Given the description of an element on the screen output the (x, y) to click on. 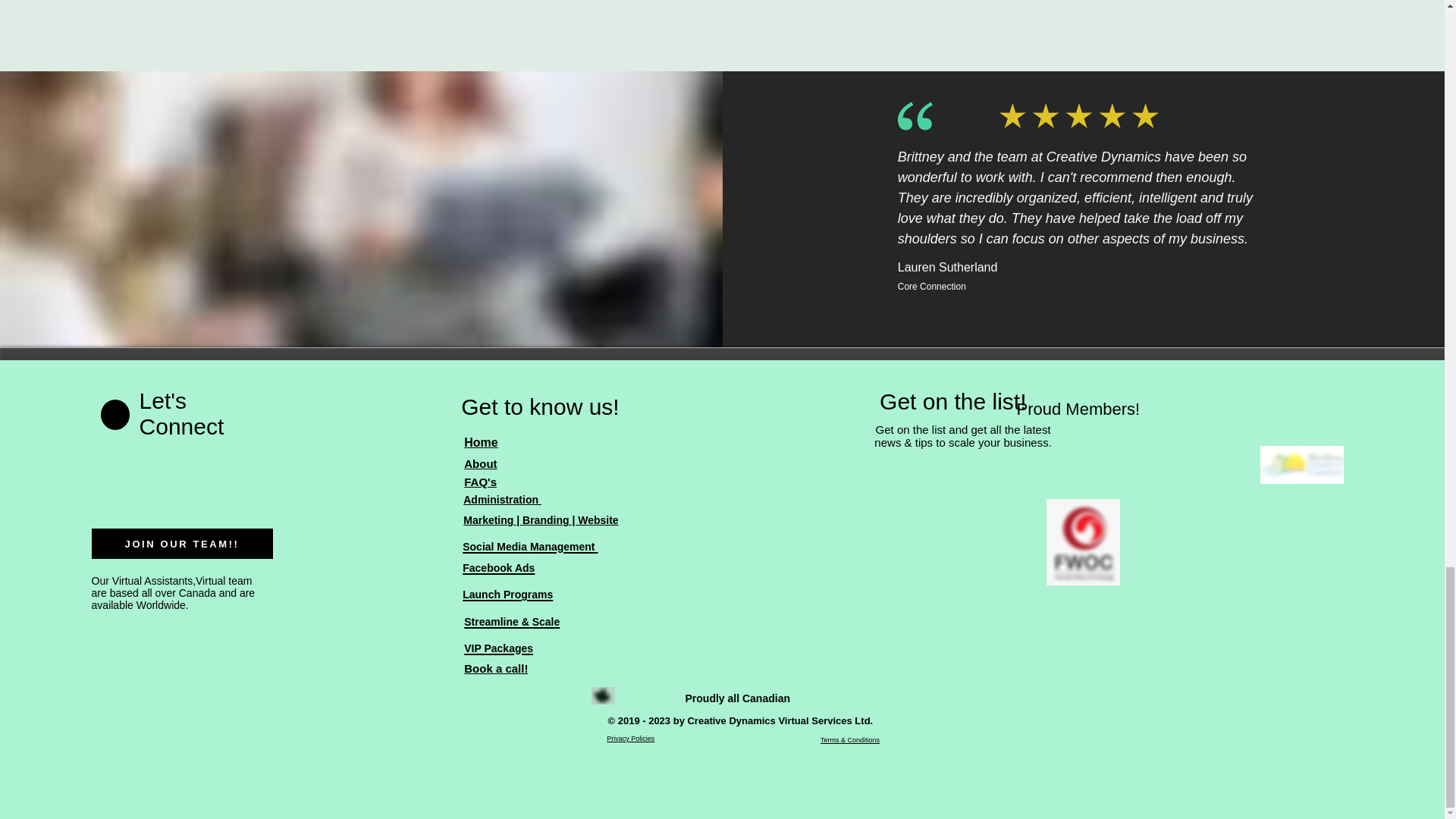
Home (480, 441)
About (480, 463)
JOIN OUR TEAM!! (182, 543)
FAQ's (480, 481)
Canadian virtual assistants.png (602, 695)
